Given the description of an element on the screen output the (x, y) to click on. 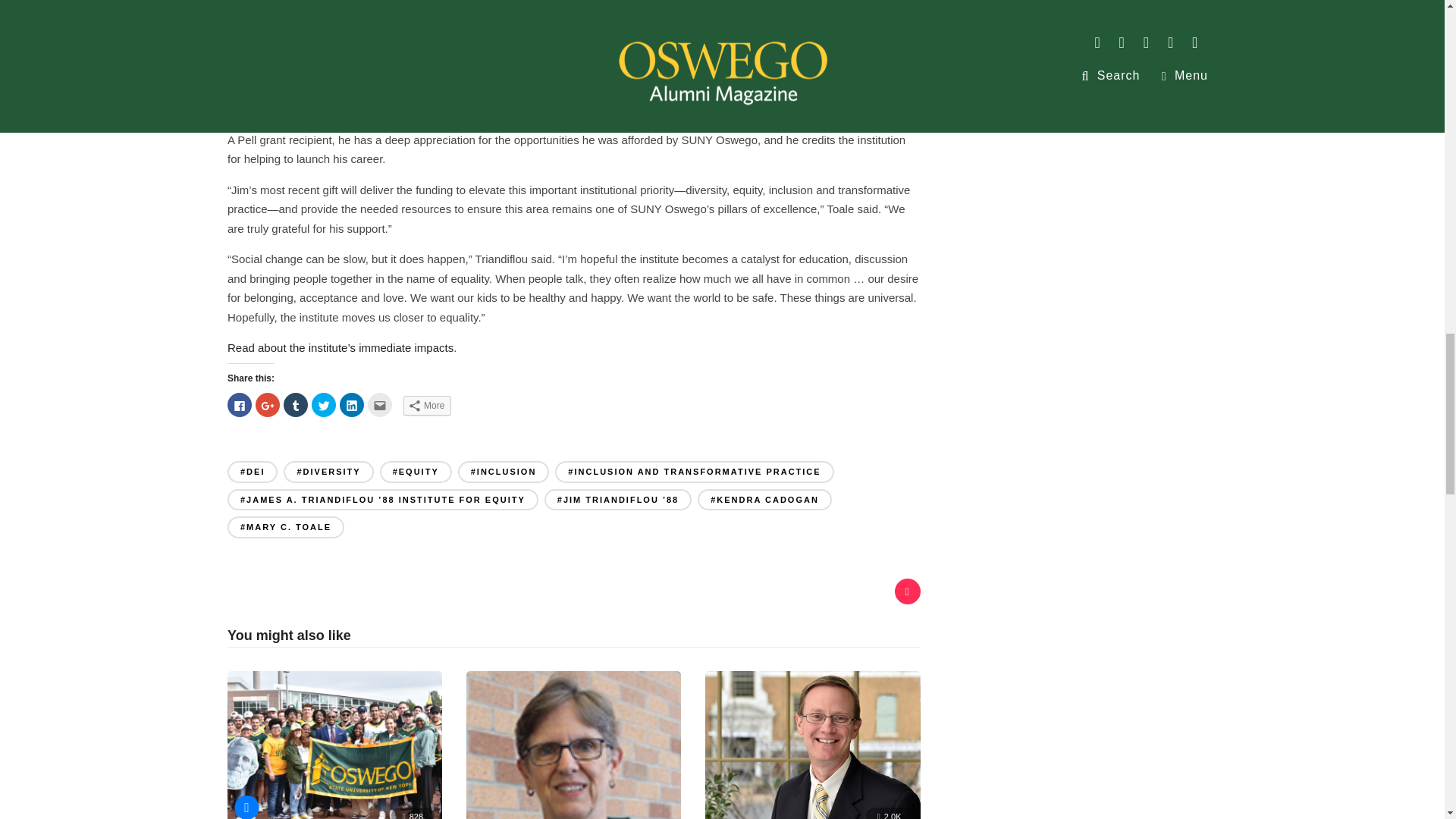
Click to share on Facebook (239, 404)
Click to share on Tumblr (295, 404)
Click to email this to a friend (379, 404)
Click to share on LinkedIn (351, 404)
Click to share on Twitter (323, 404)
